Given the description of an element on the screen output the (x, y) to click on. 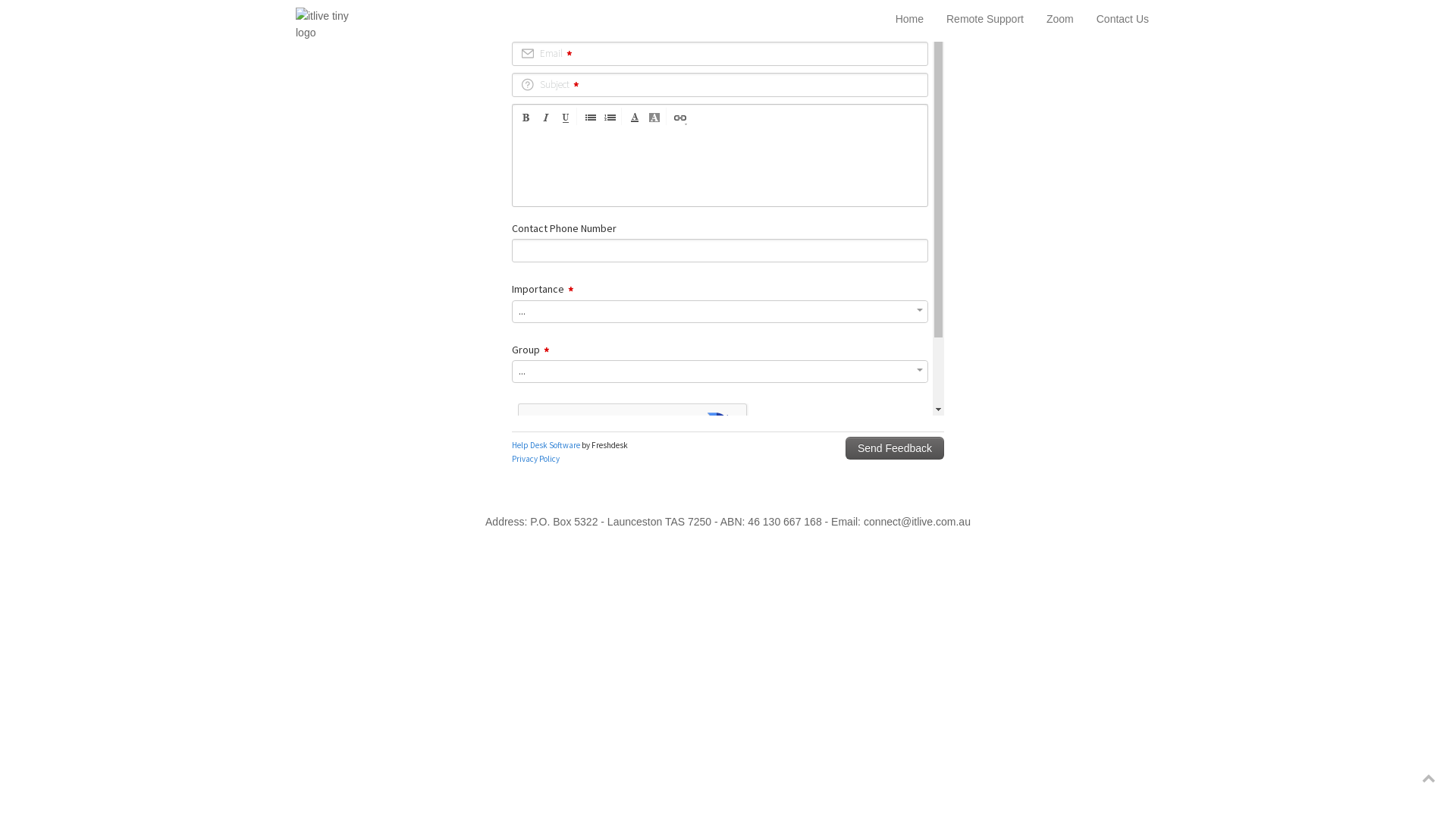
Home Element type: text (909, 18)
Remote Support Element type: text (985, 18)
Contact Us Element type: text (1122, 18)
Zoom Element type: text (1060, 18)
